Given the description of an element on the screen output the (x, y) to click on. 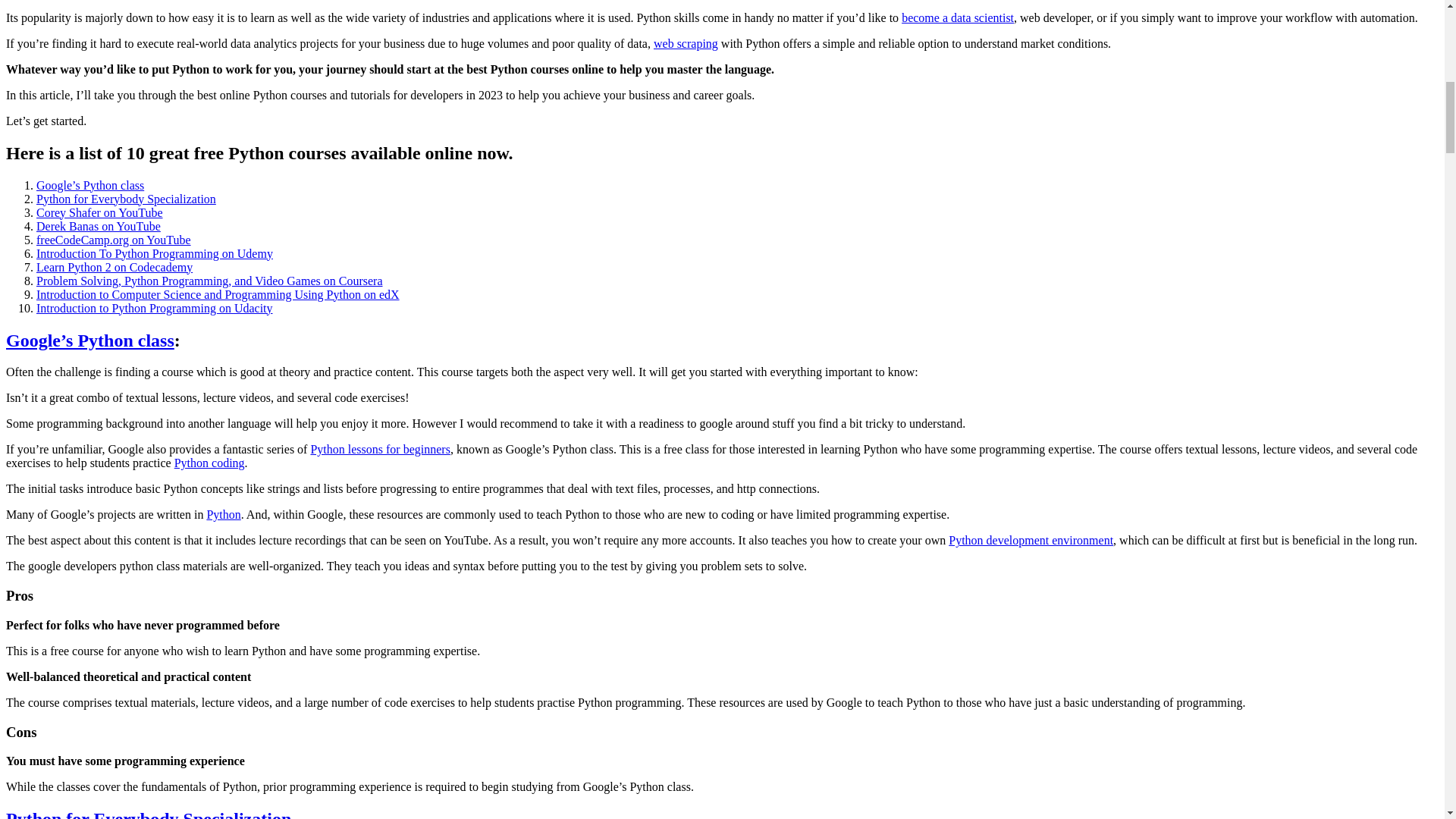
Introduction to Python Programming on Udacity (154, 308)
Derek Banas on YouTube (98, 226)
Python for Everybody Specialization (148, 814)
Introduction To Python Programming on Udemy (154, 253)
Learn Python 2 on Codecademy (114, 267)
Python development environment (1031, 540)
web scraping (685, 42)
freeCodeCamp.org on YouTube (113, 239)
Python (223, 513)
